Given the description of an element on the screen output the (x, y) to click on. 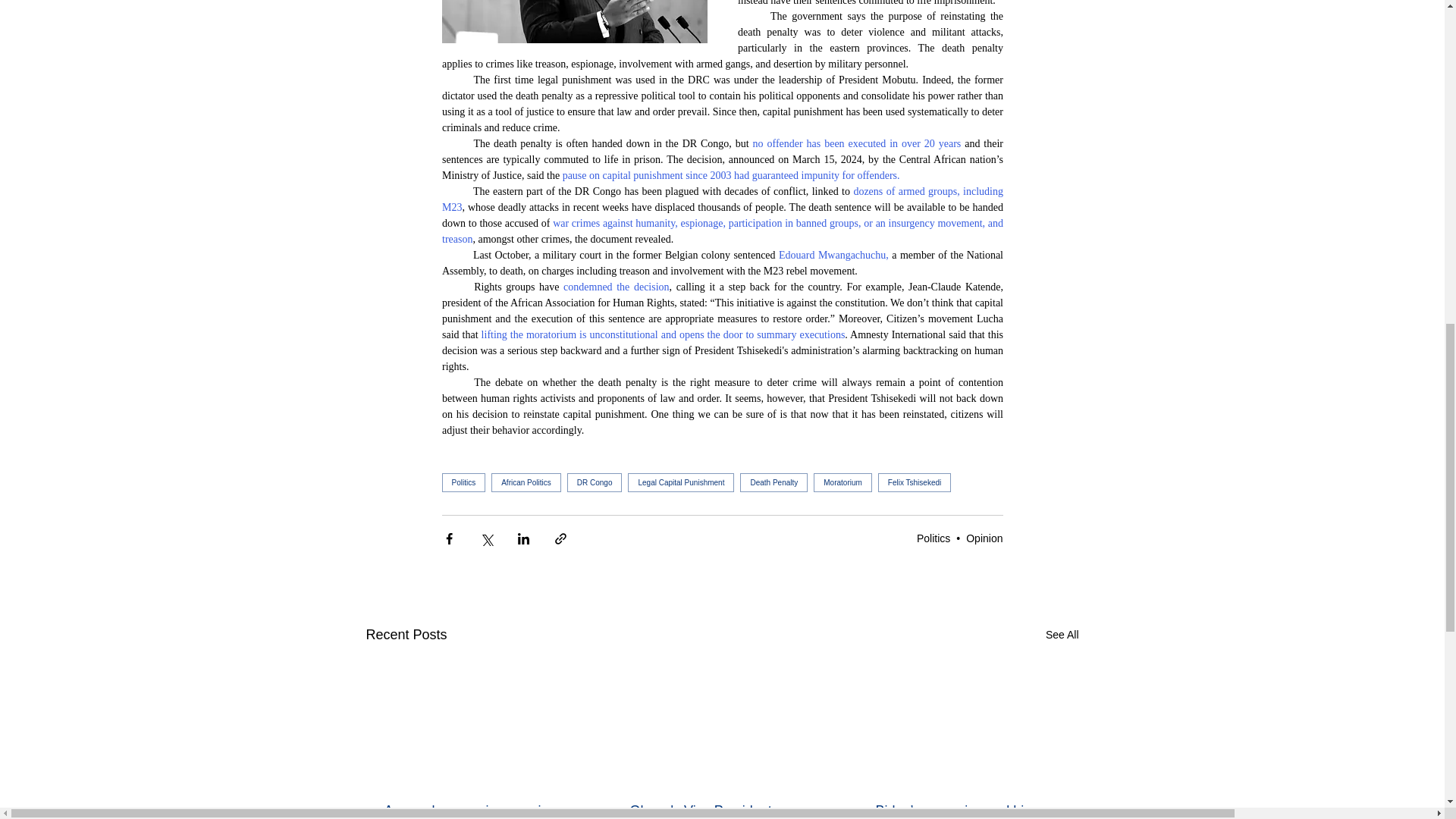
Opinion (984, 538)
DR Congo (595, 482)
Edouard Mwangachuchu (831, 255)
Politics (933, 538)
condemned the decision (616, 286)
Death Penalty (773, 482)
Moratorium (842, 482)
Politics (462, 482)
See All (1061, 635)
dozens of armed groups, including M23 (723, 198)
Felix Tshisekedi (913, 482)
Legal Capital Punishment (680, 482)
African Politics (526, 482)
